Given the description of an element on the screen output the (x, y) to click on. 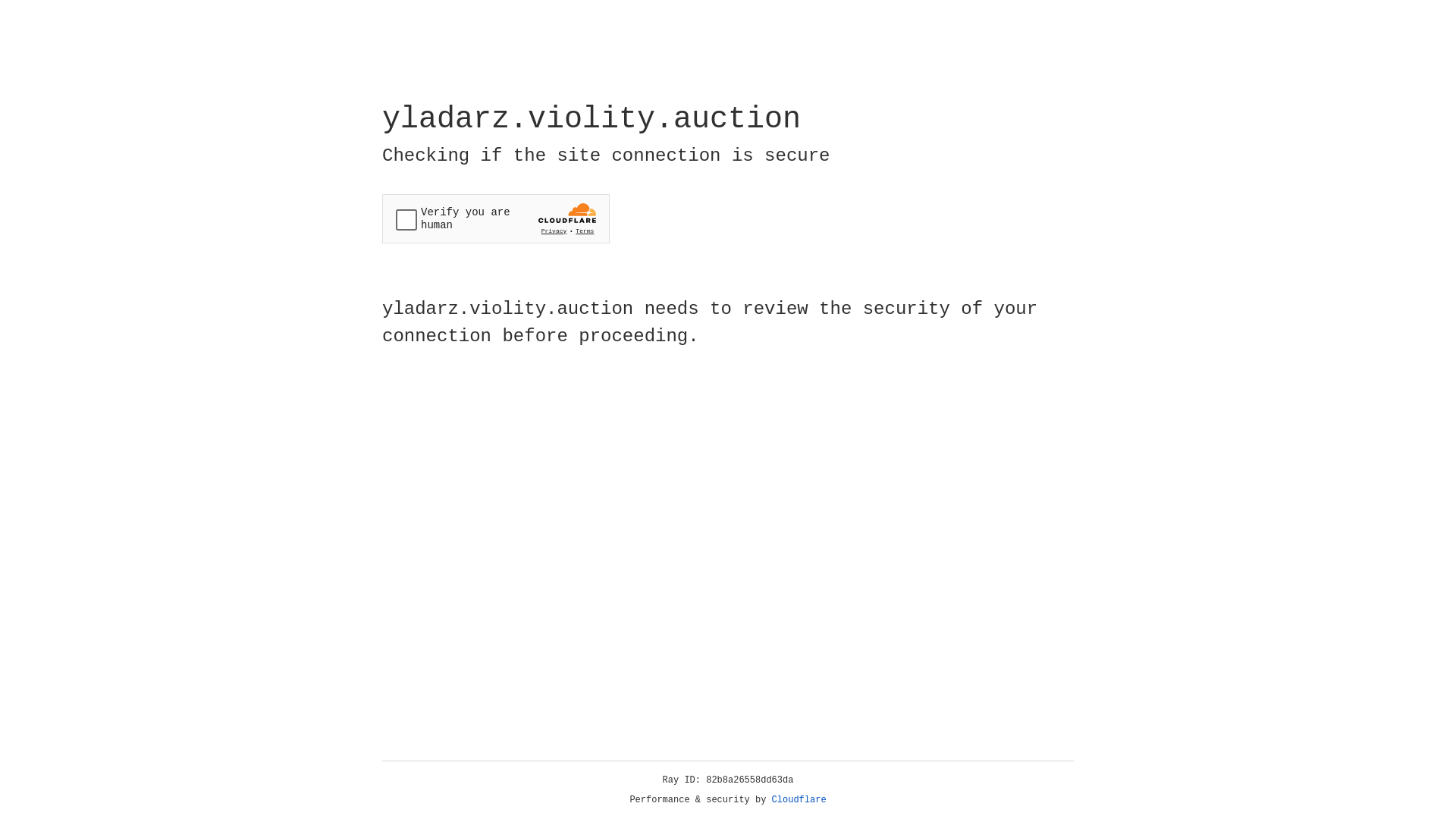
Widget containing a Cloudflare security challenge Element type: hover (495, 218)
Cloudflare Element type: text (798, 799)
